Given the description of an element on the screen output the (x, y) to click on. 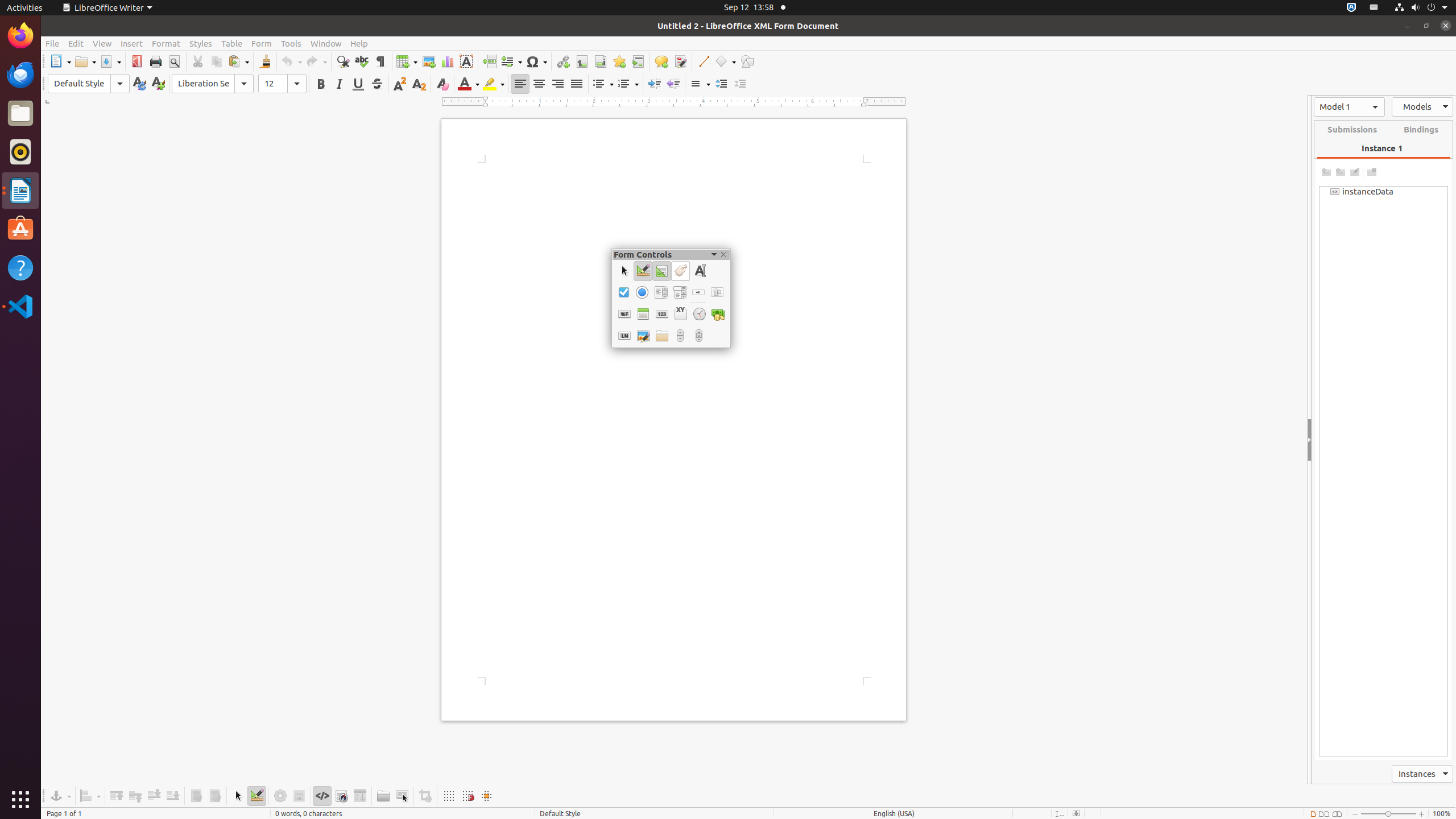
Thunderbird Mail Element type: push-button (20, 74)
Firefox Web Browser Element type: push-button (20, 35)
Visual Studio Code Element type: push-button (20, 306)
File Selection Element type: toggle-button (661, 335)
Spin Button Element type: toggle-button (680, 335)
